Given the description of an element on the screen output the (x, y) to click on. 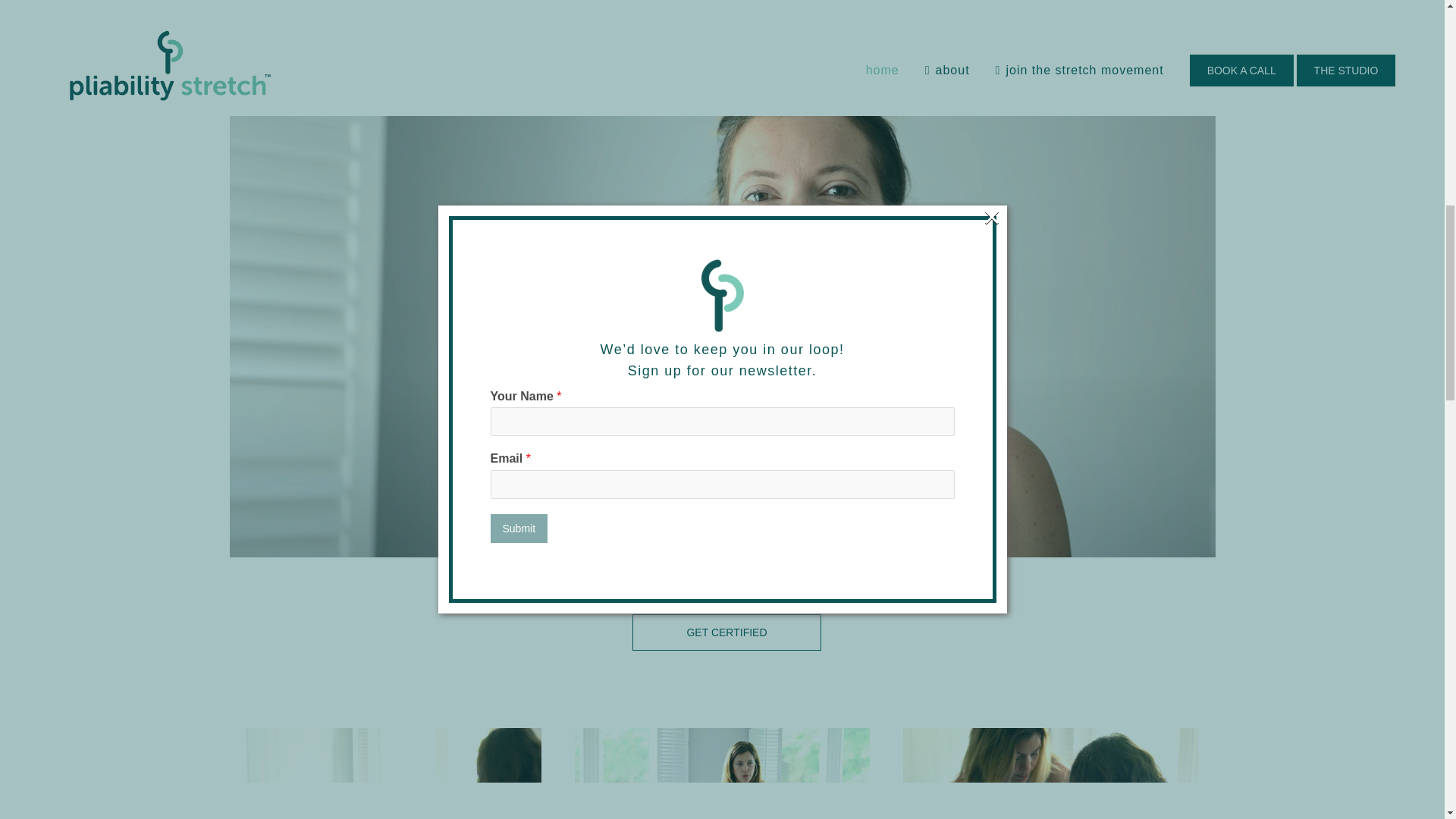
GET CERTIFIED (726, 632)
